Given the description of an element on the screen output the (x, y) to click on. 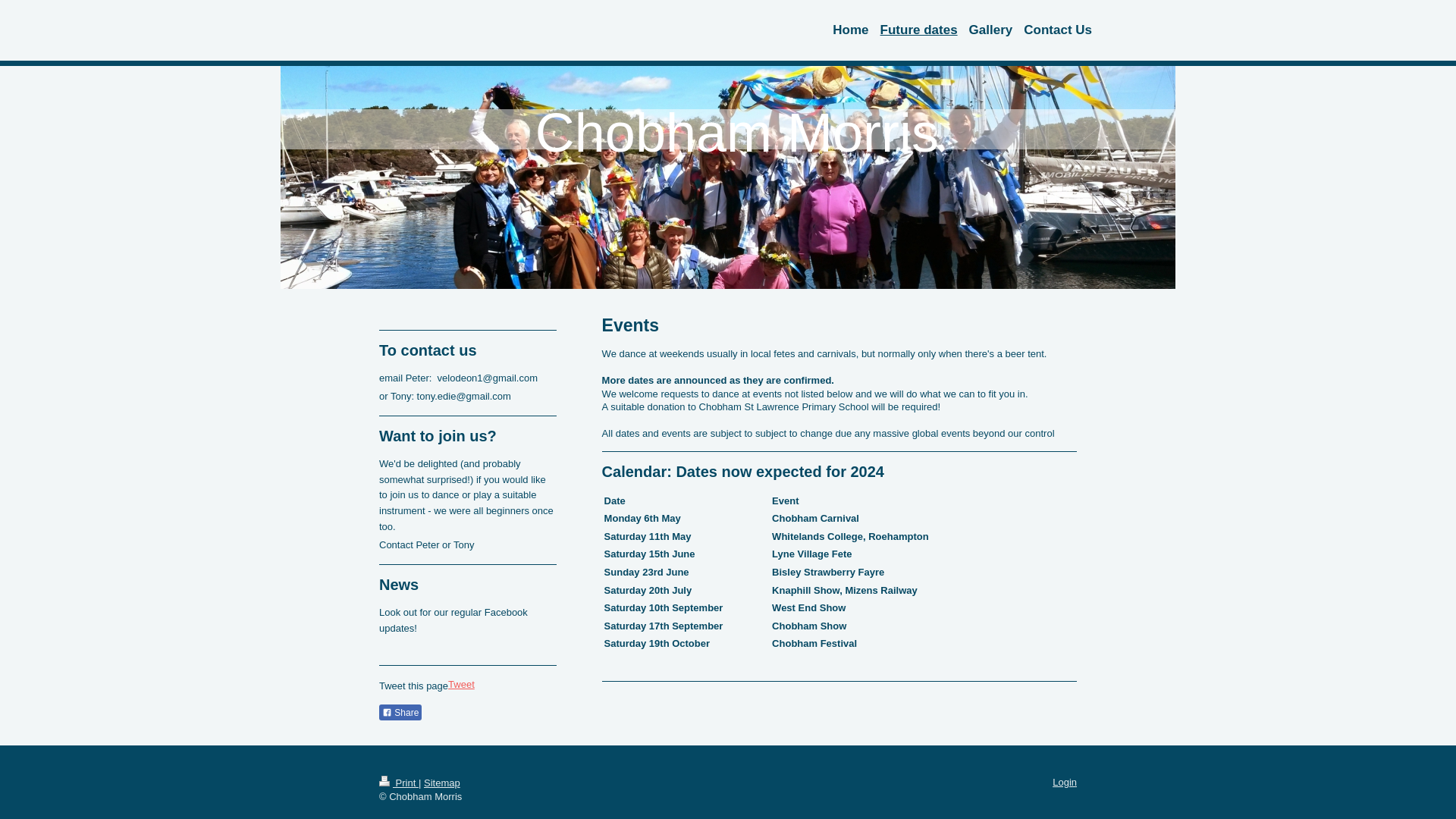
Home (844, 30)
Print (398, 782)
Login (1064, 781)
            Chobham Morris (646, 132)
Contact Us (1051, 30)
Tweet (461, 684)
Sitemap (441, 782)
Share (400, 711)
Gallery (985, 30)
Future dates (913, 30)
